Given the description of an element on the screen output the (x, y) to click on. 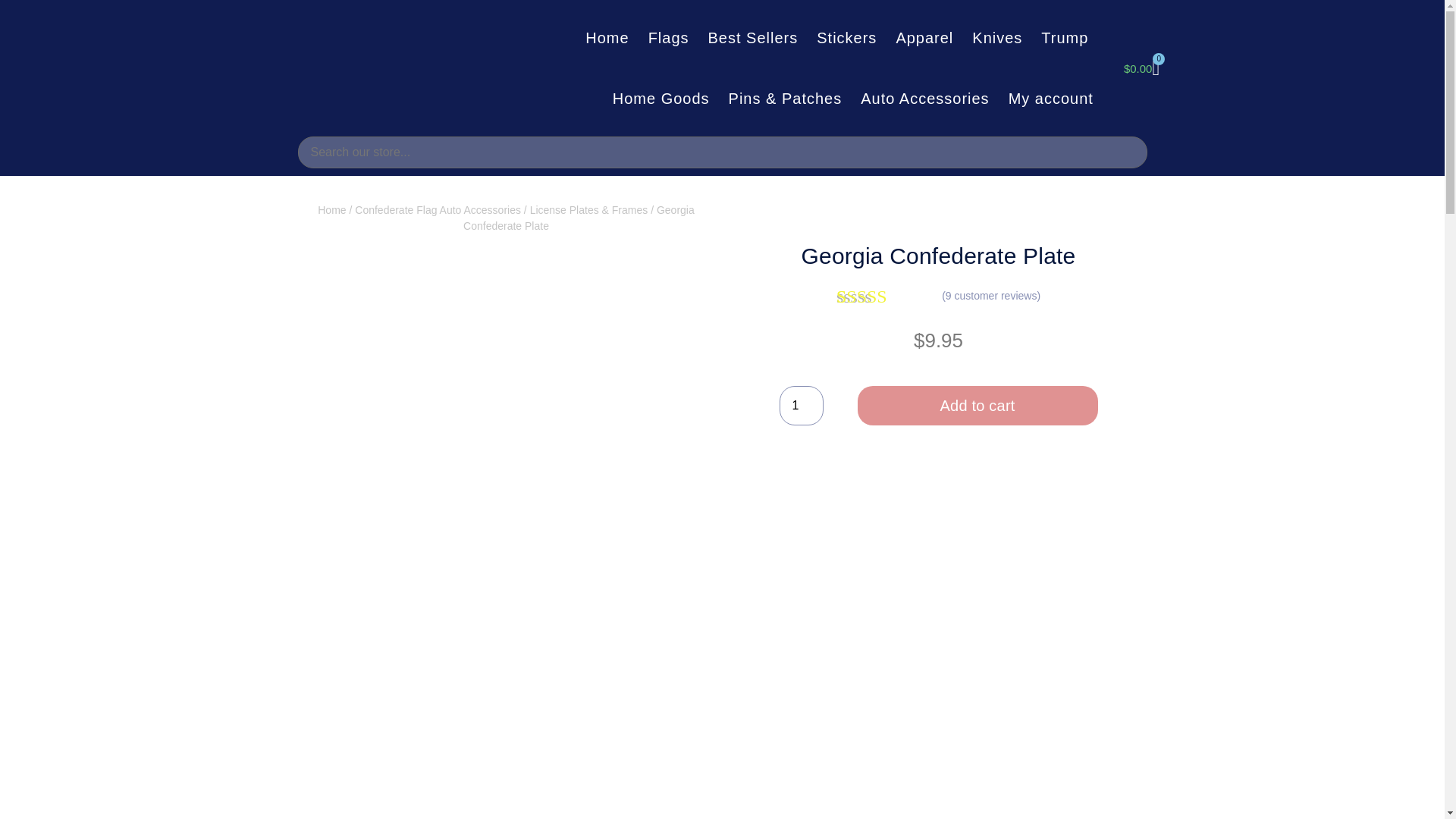
Stickers (846, 37)
Knives (997, 37)
Home (331, 209)
Confederate Flag Auto Accessories (438, 209)
1 (801, 405)
Apparel (924, 37)
My account (1050, 97)
Best Sellers (753, 37)
Add to cart (977, 405)
Home Goods (661, 97)
Auto Accessories (924, 97)
Trump (1064, 37)
